Given the description of an element on the screen output the (x, y) to click on. 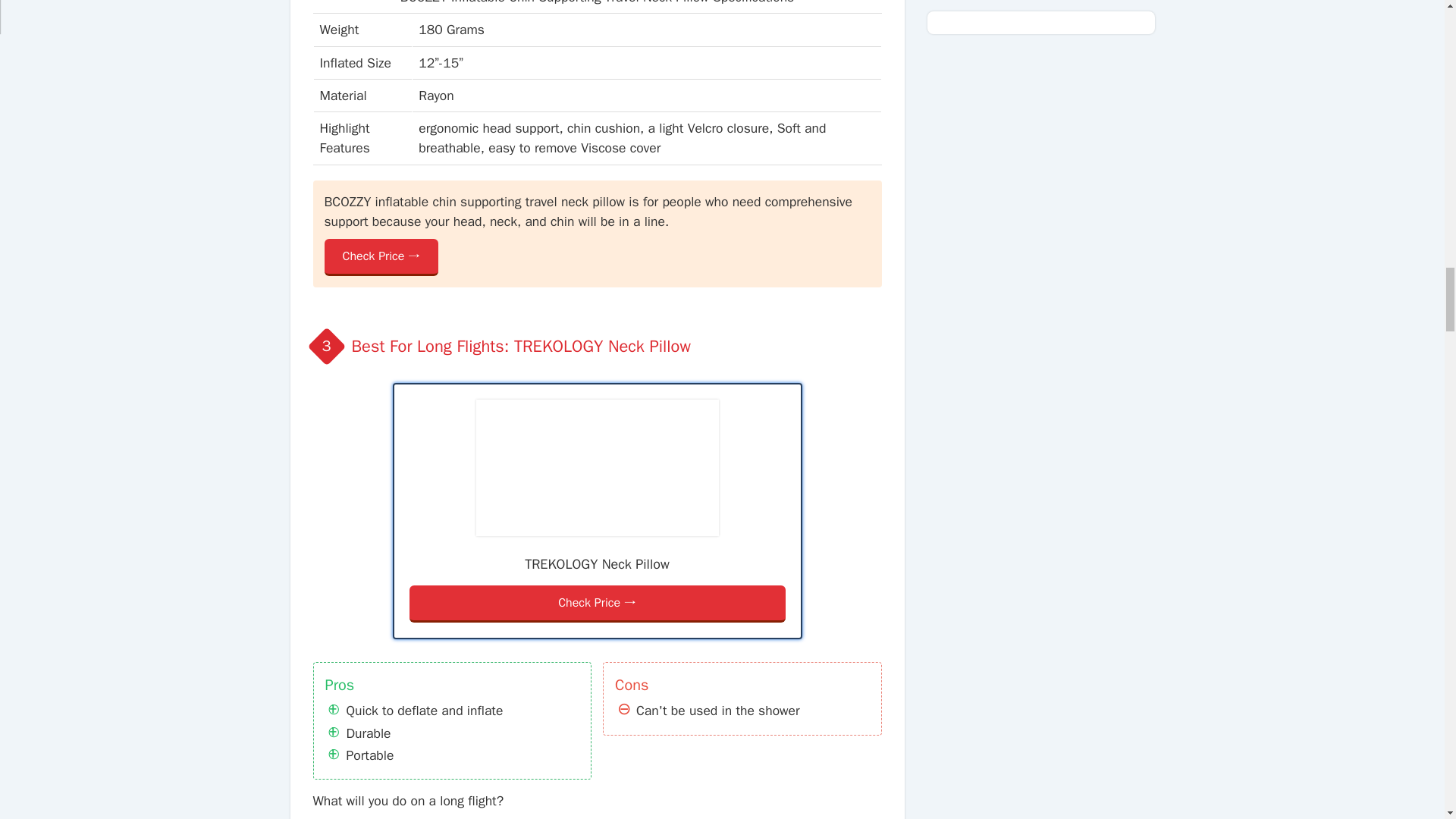
TREKOLOGY Neck Pillow (597, 467)
Check Price (597, 603)
Check Price (381, 257)
